Given the description of an element on the screen output the (x, y) to click on. 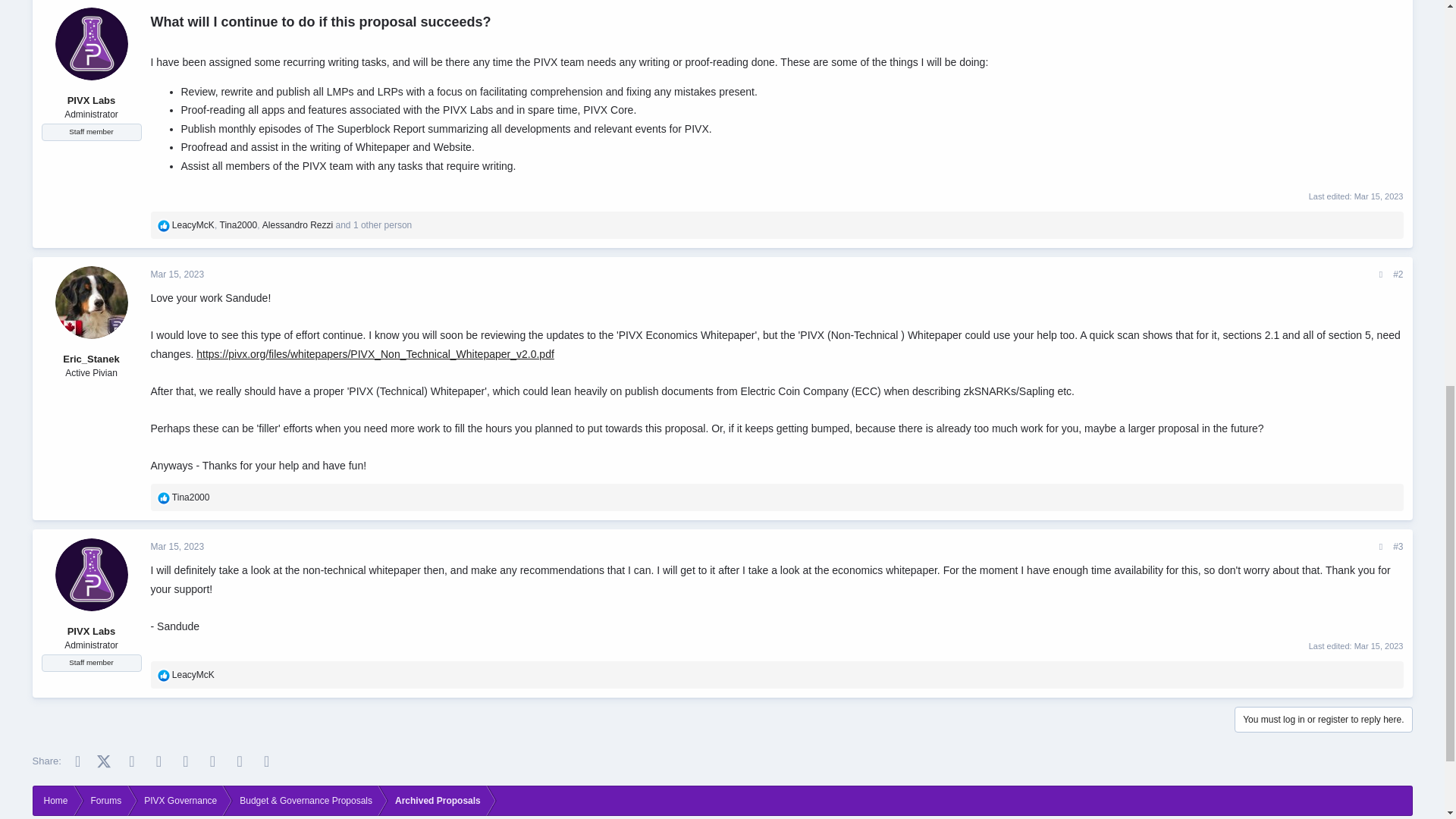
Mar 15, 2023 at 3:56 PM (176, 274)
Mar 15, 2023 at 6:23 PM (1378, 645)
Like (163, 225)
Like (163, 675)
Like (163, 498)
Mar 15, 2023 at 4:11 PM (176, 546)
Mar 15, 2023 at 3:44 PM (1378, 194)
